Given the description of an element on the screen output the (x, y) to click on. 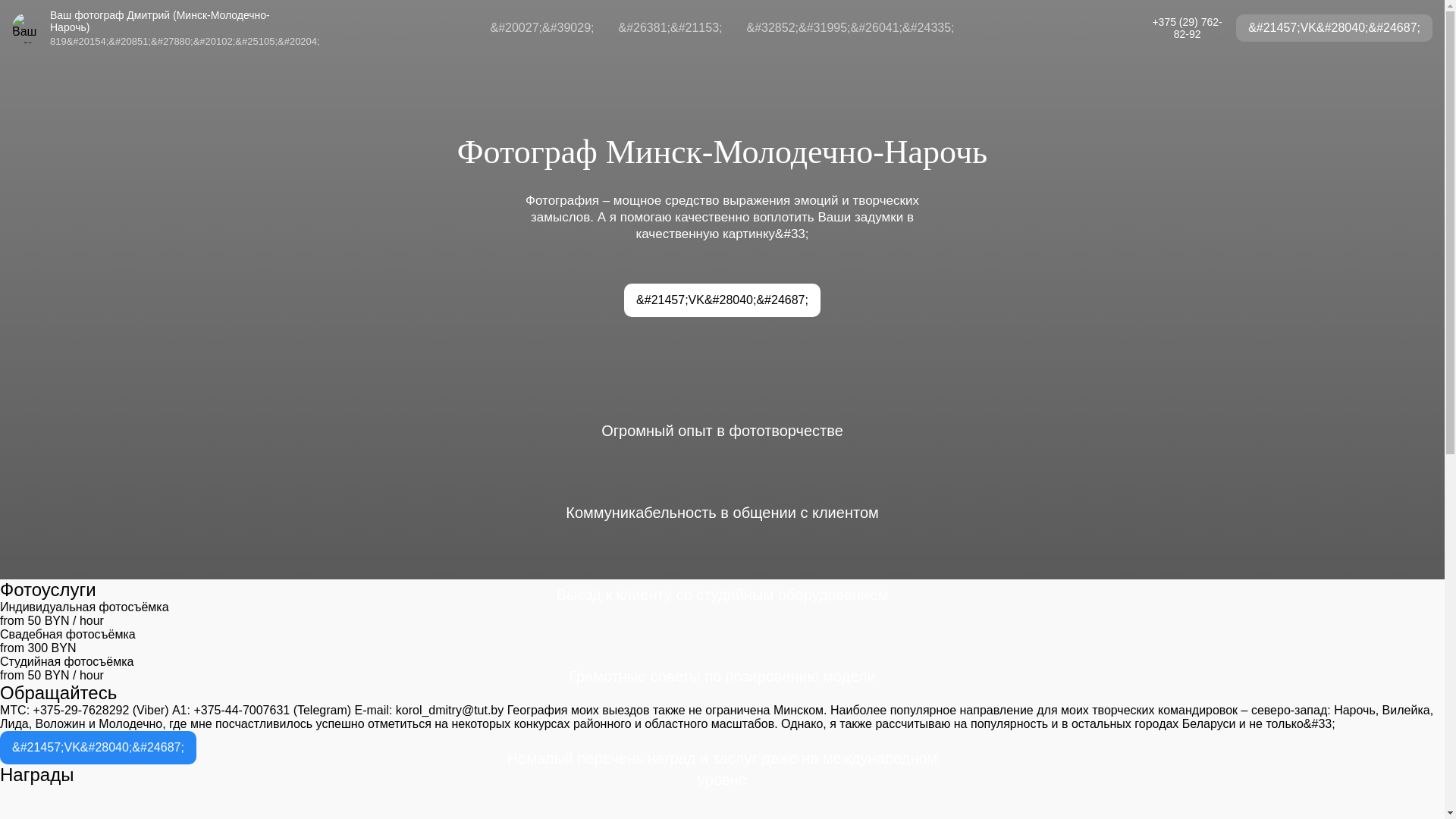
&#20027;&#39029; Element type: text (541, 27)
&#21457;VK&#28040;&#24687; Element type: text (98, 747)
+375 (29) 762-82-92 Element type: text (1186, 27)
&#21457;VK&#28040;&#24687; Element type: text (722, 299)
819&#20154;&#20851;&#27880;&#20102;&#25105;&#20204; Element type: text (185, 41)
&#26381;&#21153; Element type: text (669, 27)
&#32852;&#31995;&#26041;&#24335; Element type: text (849, 27)
&#21457;VK&#28040;&#24687; Element type: text (1334, 27)
